Given the description of an element on the screen output the (x, y) to click on. 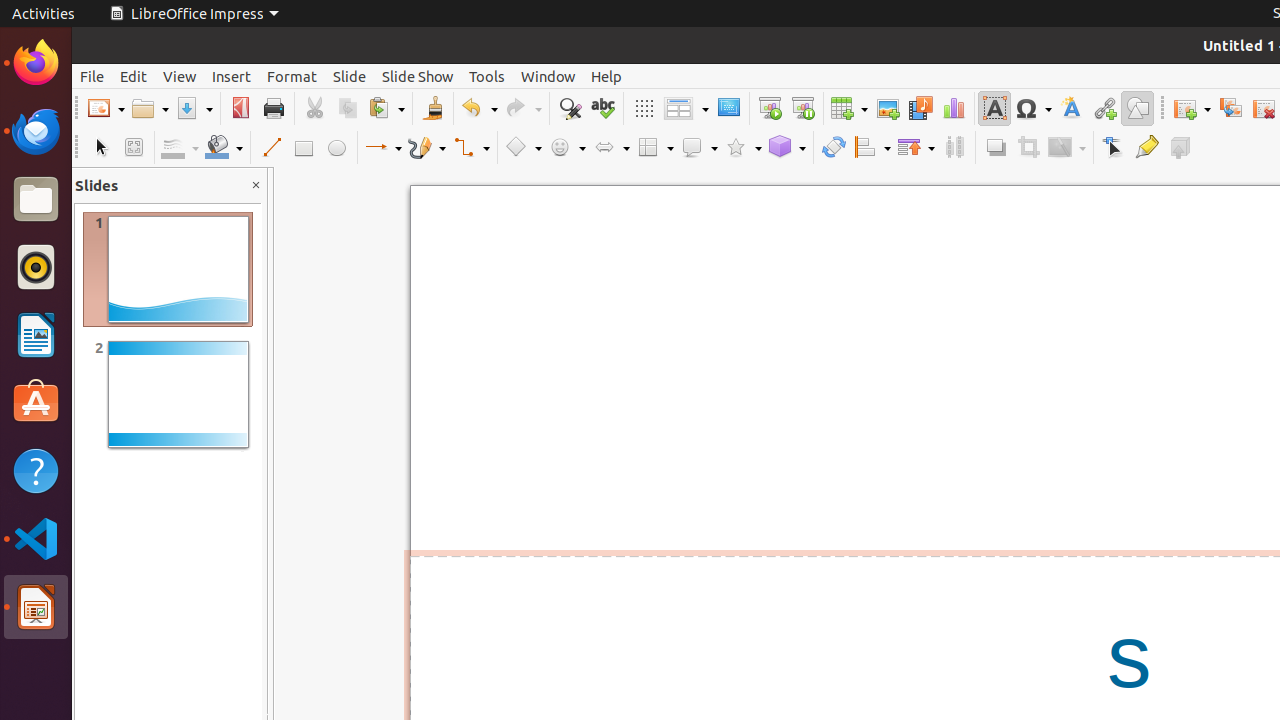
New Element type: push-button (106, 108)
Delete Slide Element type: push-button (1263, 108)
PDF Element type: push-button (240, 108)
Basic Shapes Element type: push-button (523, 147)
Grid Element type: toggle-button (643, 108)
